Given the description of an element on the screen output the (x, y) to click on. 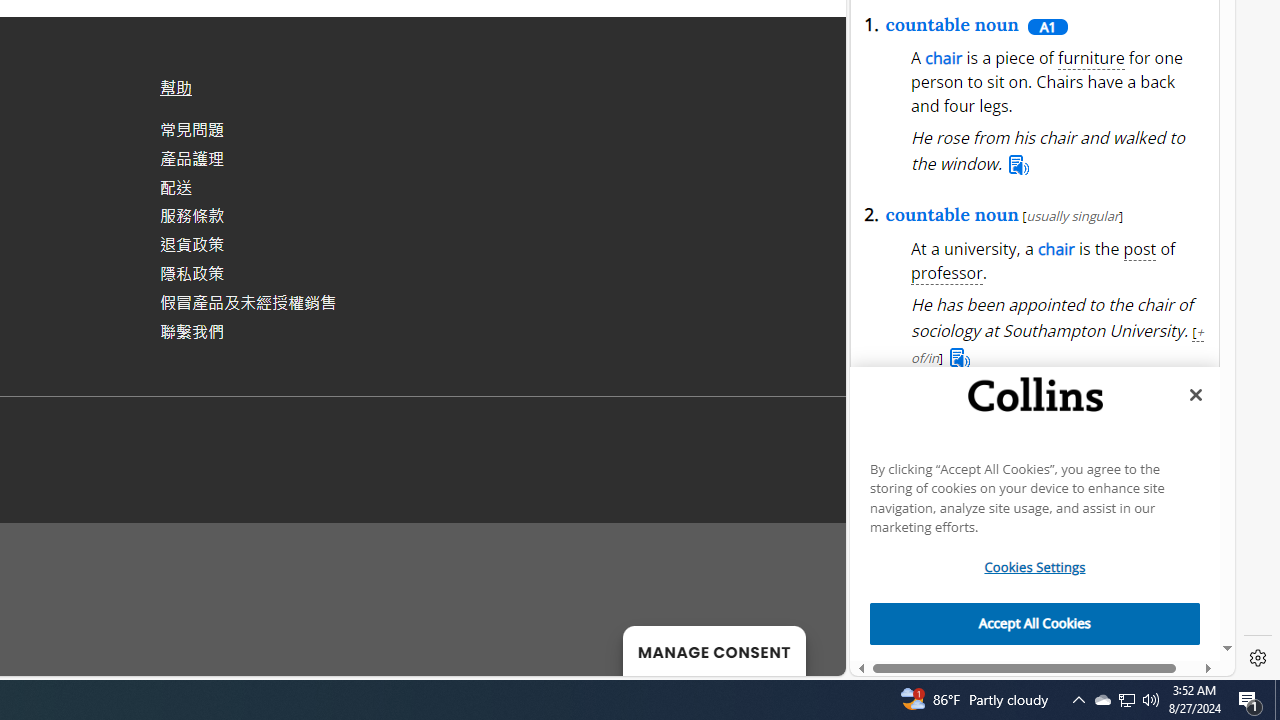
moderate (980, 125)
furniture (1091, 58)
Cookies Settings (1035, 567)
What does a chair mean? (1015, 433)
MANAGE CONSENT (714, 650)
